Given the description of an element on the screen output the (x, y) to click on. 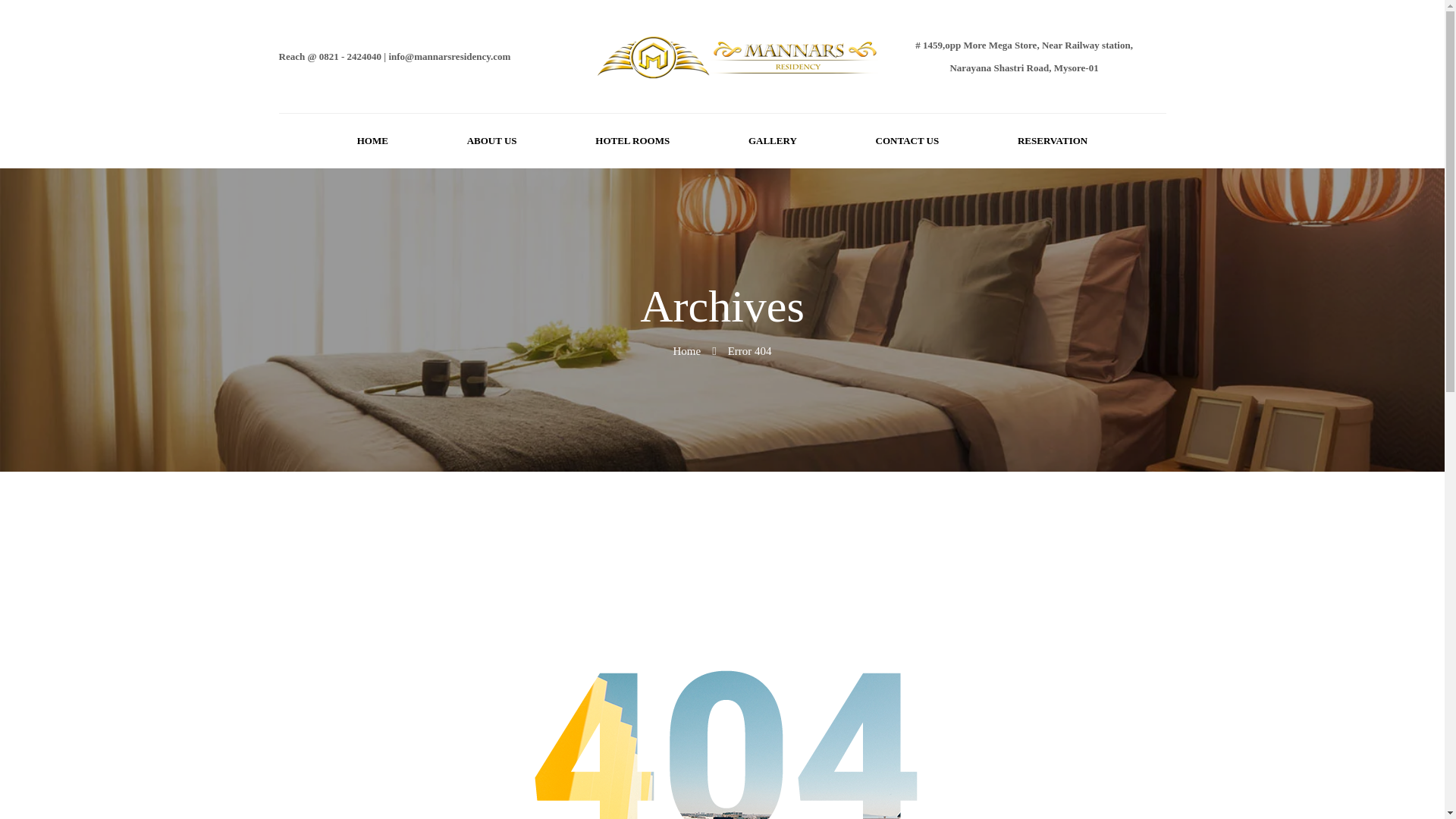
Home (686, 350)
RESERVATION (1051, 140)
Mannars - Residency (738, 56)
HOME (372, 140)
HOTEL ROOMS (632, 140)
ABOUT US (492, 140)
GALLERY (772, 140)
CONTACT US (907, 140)
